Given the description of an element on the screen output the (x, y) to click on. 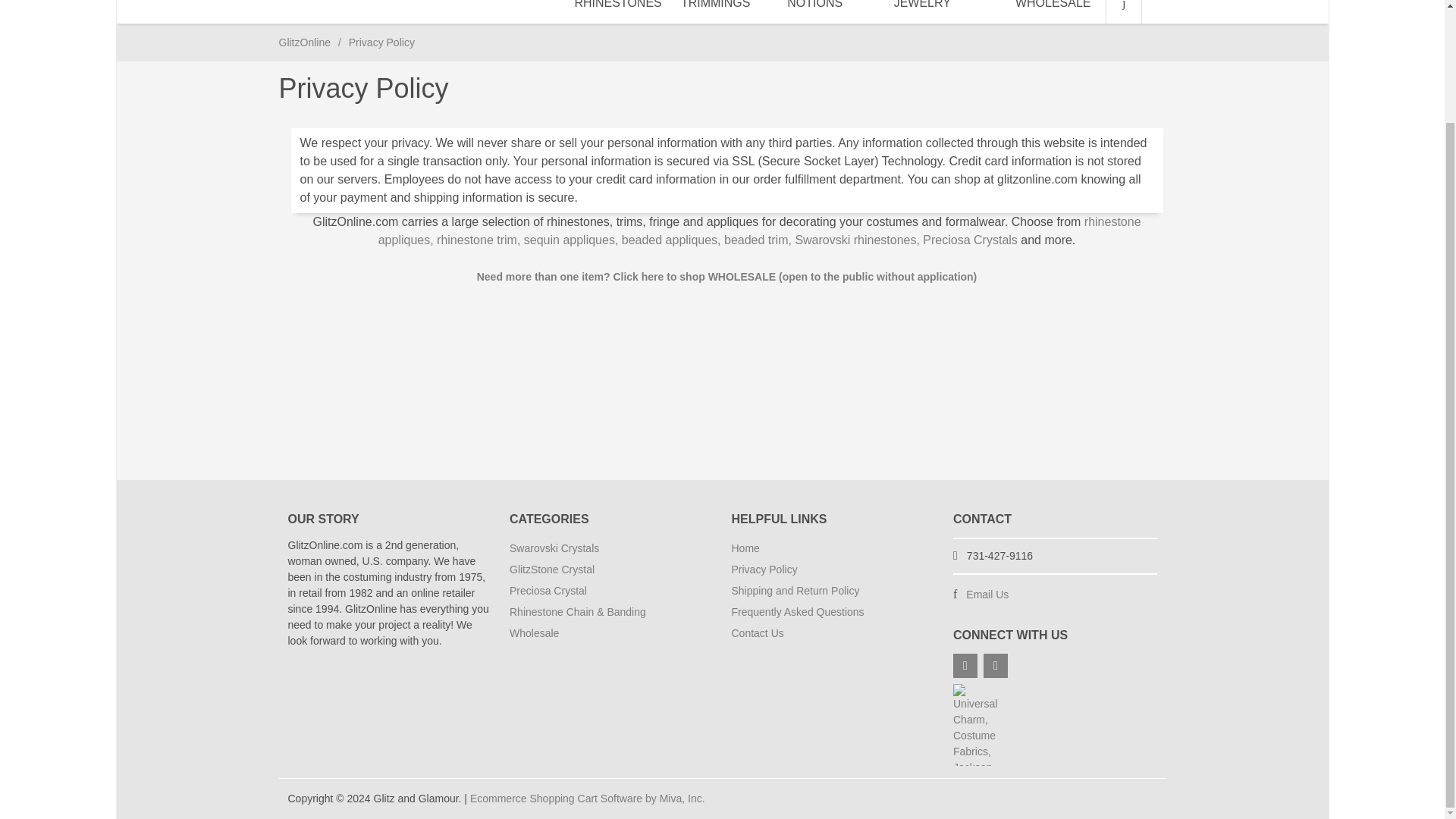
Ecommerce Shopping Cart Software by Miva Merchant (587, 798)
Instagram (995, 665)
Facebook (964, 665)
Home (304, 42)
